Given the description of an element on the screen output the (x, y) to click on. 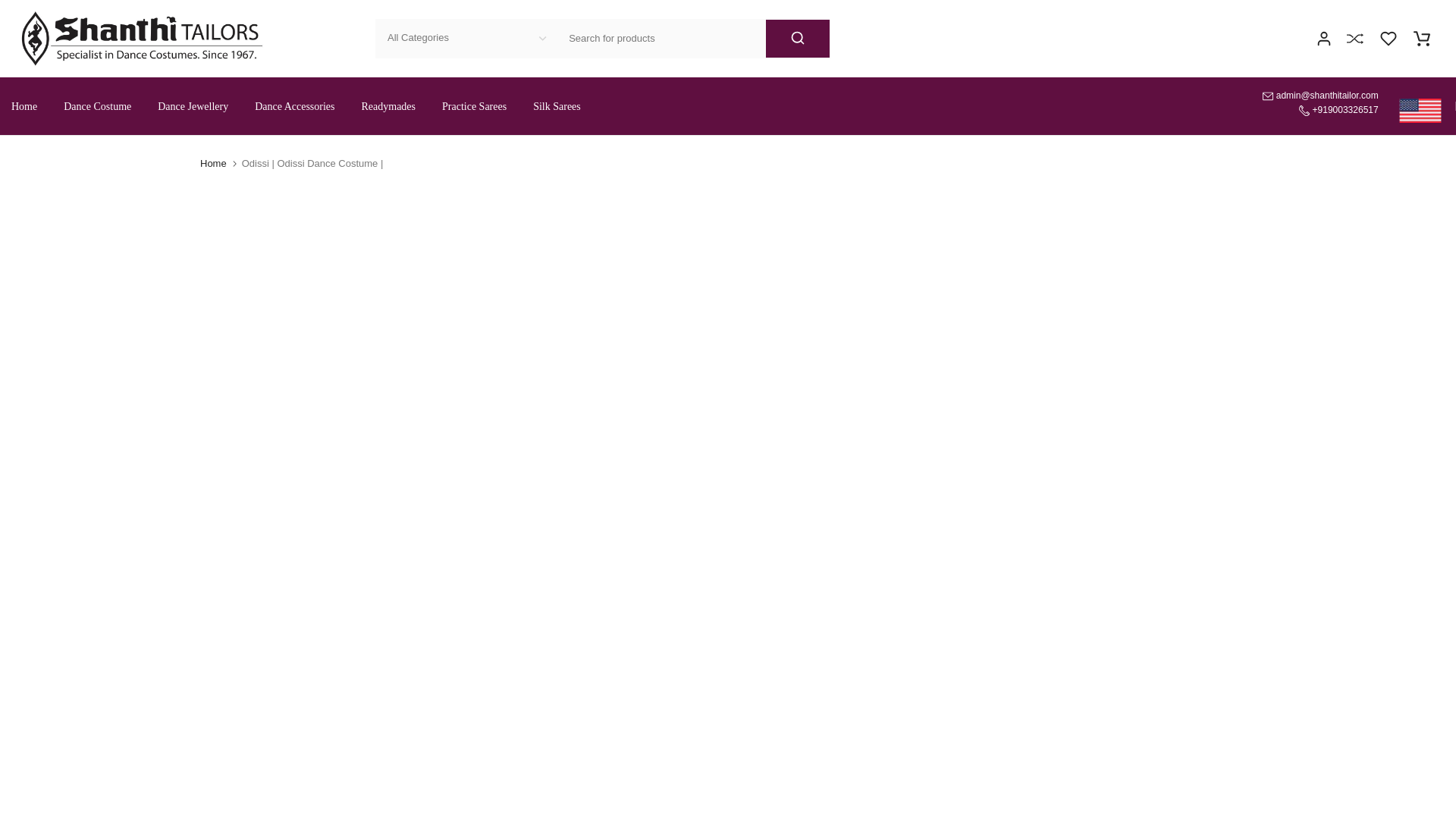
Readymades (388, 106)
Practice Sarees (474, 106)
Dance Jewellery (192, 106)
Home (213, 163)
Silk Sarees (556, 106)
Dance Costume (97, 106)
Home (30, 106)
Dance Accessories (294, 106)
Skip to content (10, 7)
